Given the description of an element on the screen output the (x, y) to click on. 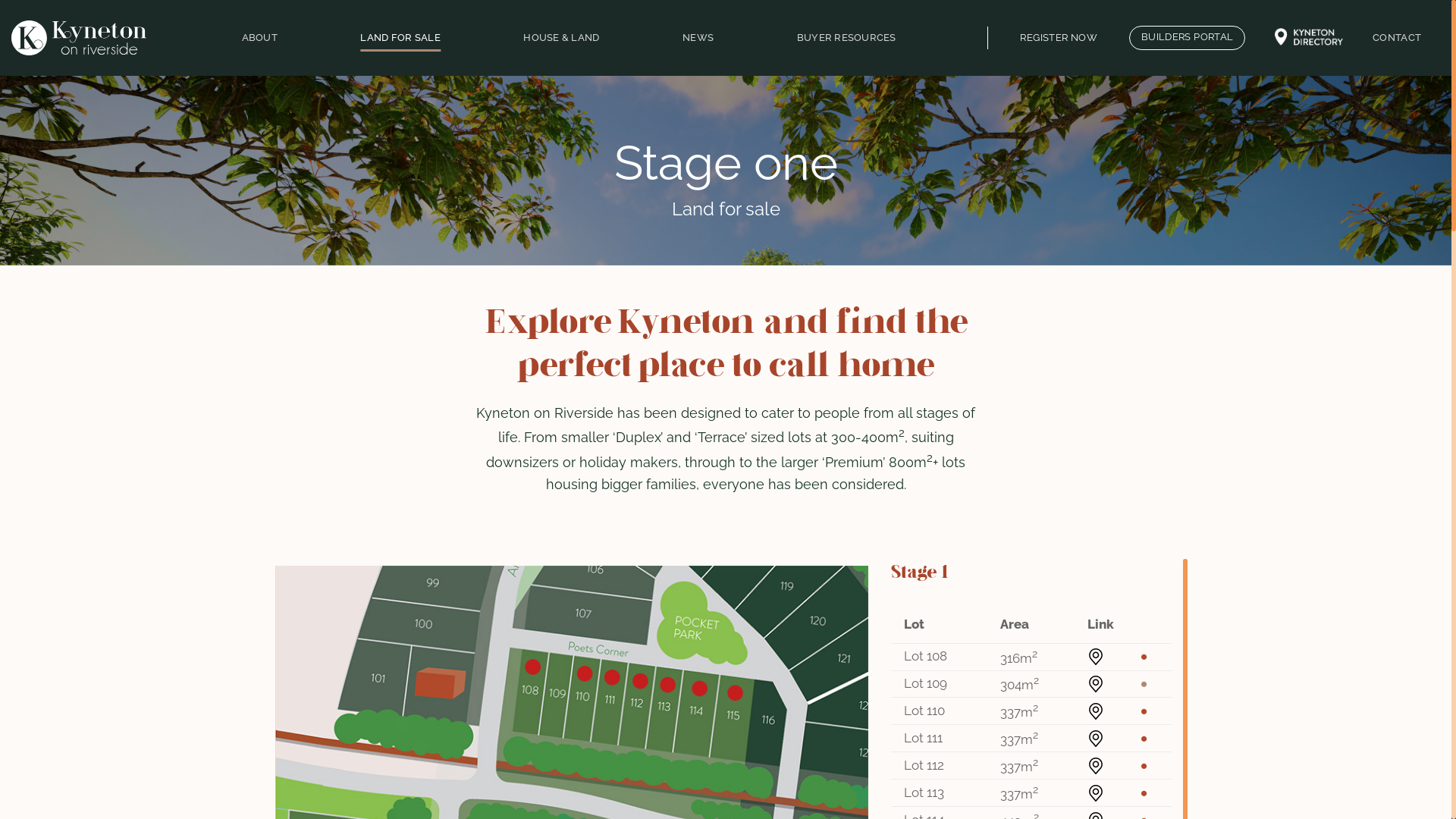
BUYER RESOURCES Element type: text (846, 37)
BUILDERS PORTAL Element type: text (1187, 37)
ABOUT Element type: text (259, 37)
NEWS Element type: text (697, 37)
CONTACT Element type: text (1396, 37)
HOUSE & LAND Element type: text (561, 37)
REGISTER NOW Element type: text (1058, 37)
Kyneton on Riverside - Land and house Packages Element type: hover (78, 38)
LAND FOR SALE Element type: text (399, 37)
